Given the description of an element on the screen output the (x, y) to click on. 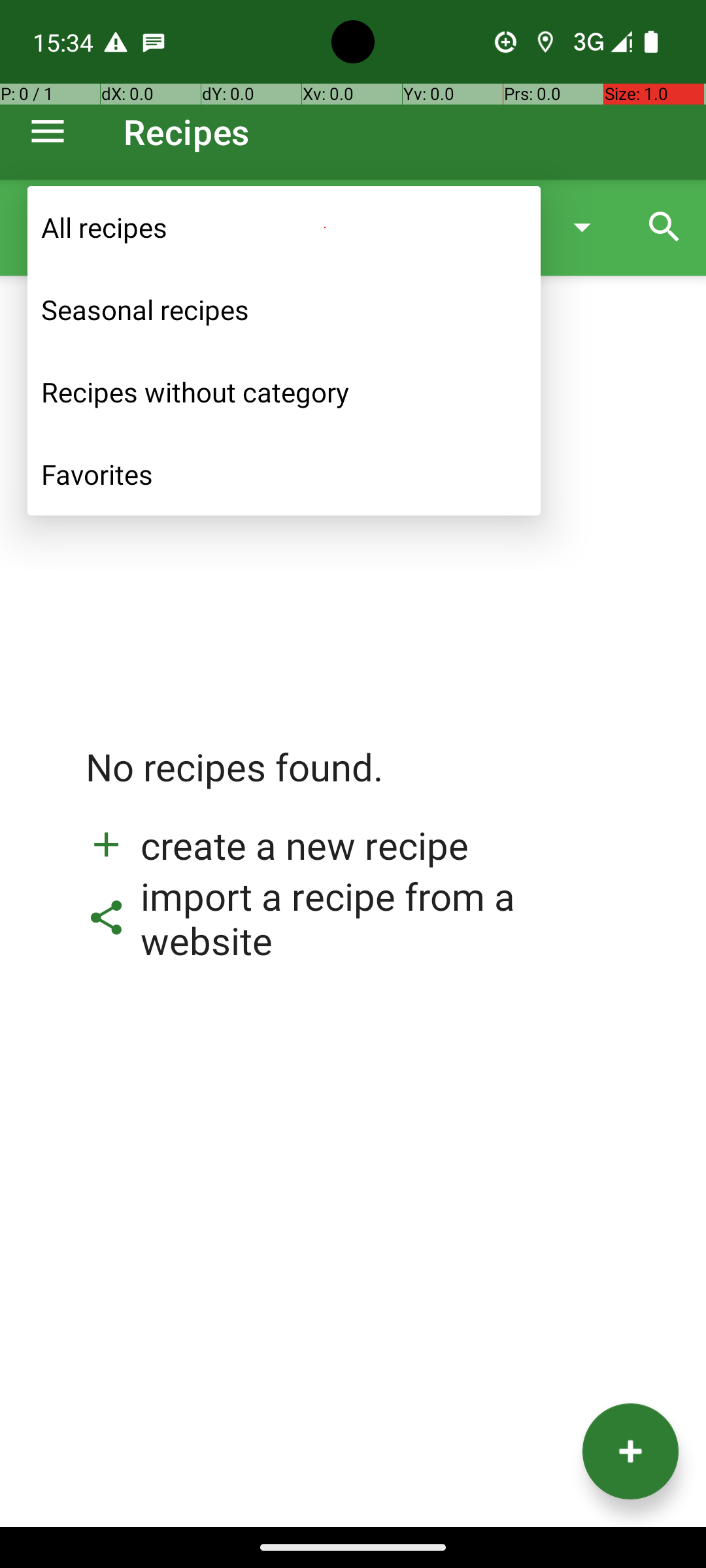
Seasonal recipes Element type: android.widget.CheckedTextView (283, 309)
Recipes without category Element type: android.widget.CheckedTextView (283, 391)
